Given the description of an element on the screen output the (x, y) to click on. 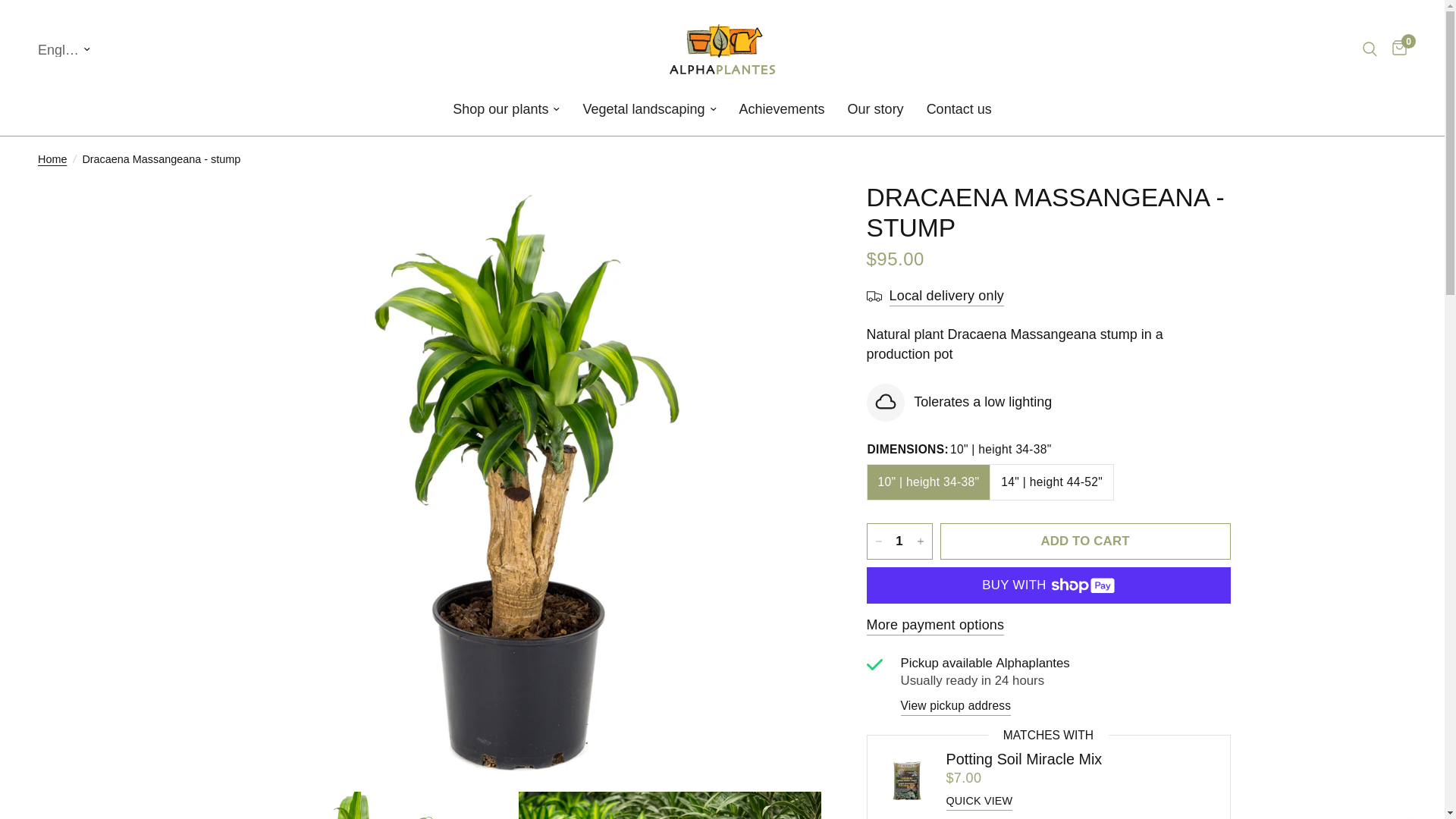
Achievements (782, 109)
Vegetal landscaping (649, 109)
Shop our plants (505, 109)
Shop our plants (505, 109)
